Given the description of an element on the screen output the (x, y) to click on. 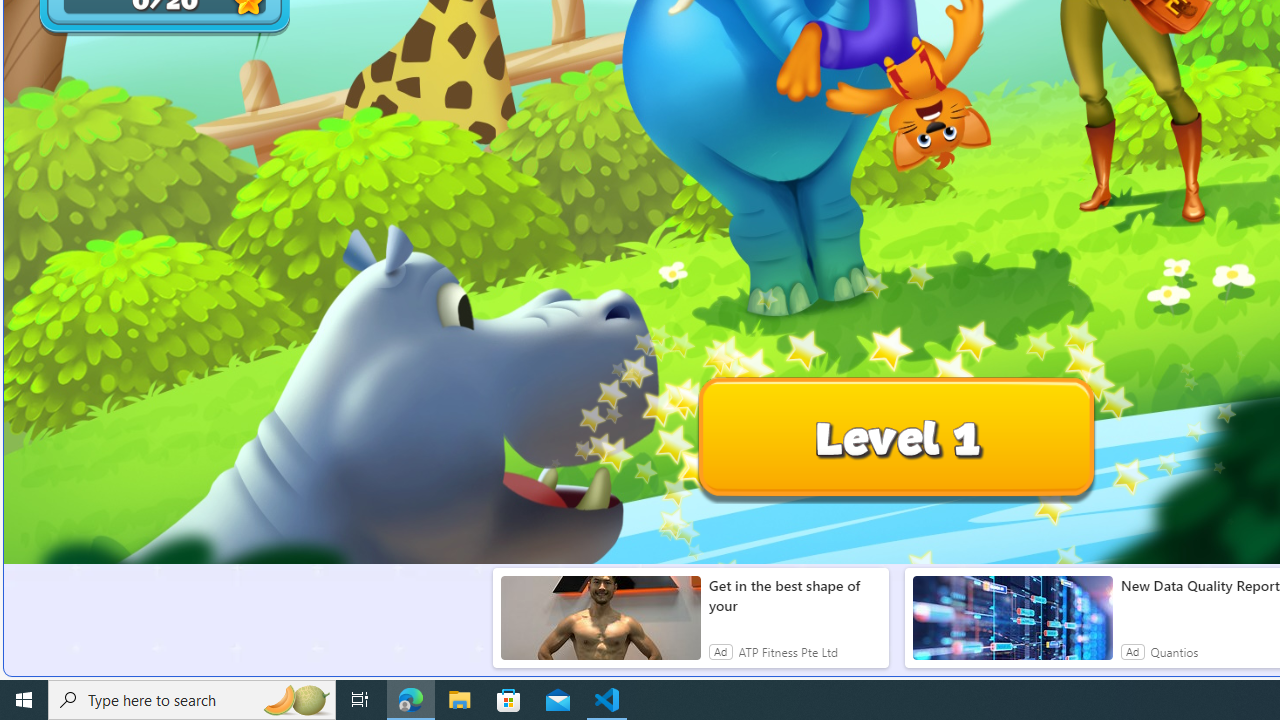
Quantios (1174, 651)
anim-content (1012, 626)
Get in the best shape of your (794, 596)
ATP Fitness Pte Ltd (788, 651)
